Given the description of an element on the screen output the (x, y) to click on. 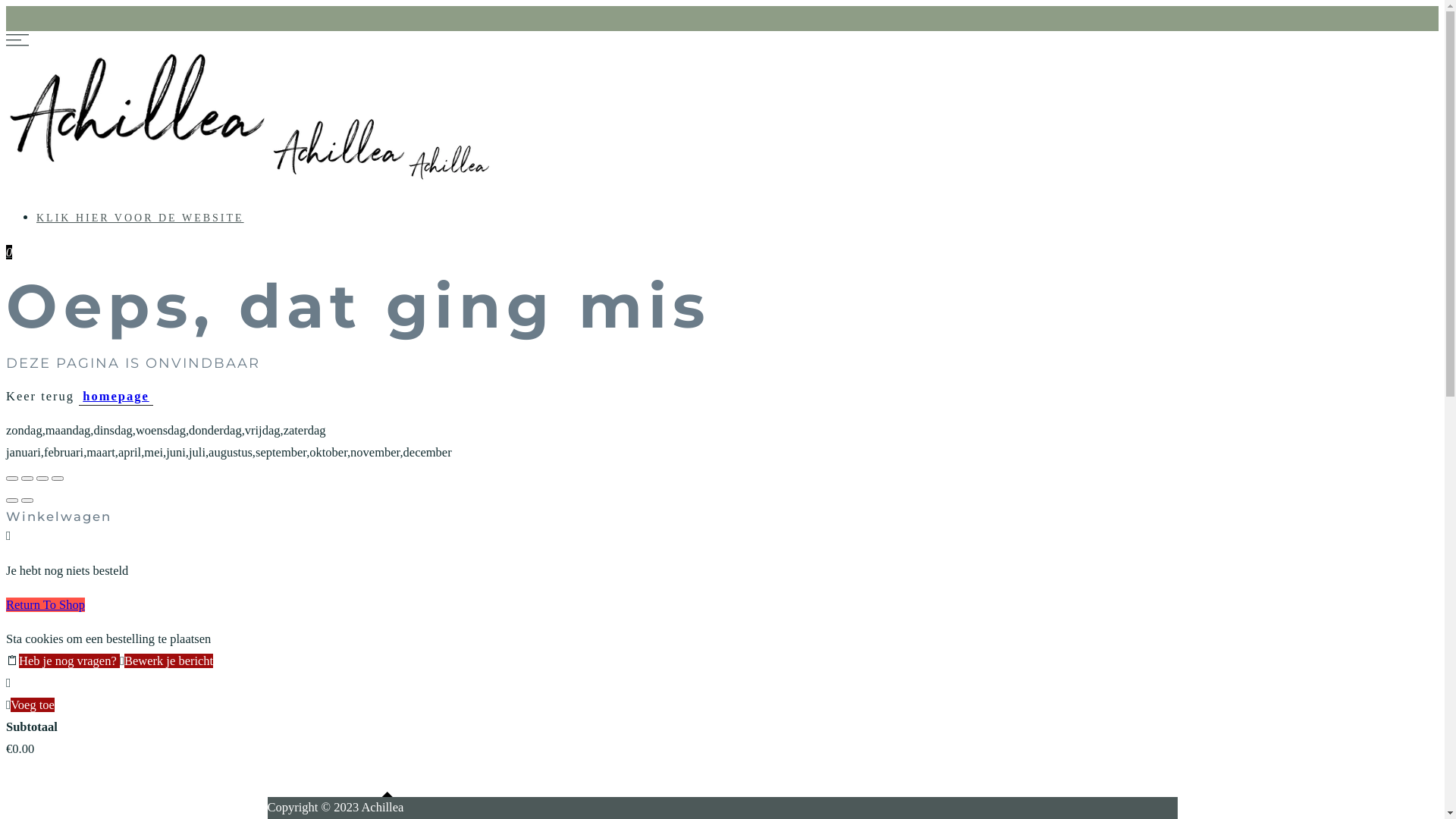
Return To Shop Element type: text (45, 604)
Toggle fullscreen Element type: hover (42, 478)
Share Element type: hover (27, 478)
Zoom in/out Element type: hover (57, 478)
0 Element type: text (9, 251)
homepage Element type: text (115, 396)
Next (arrow right) Element type: hover (27, 500)
Close (Esc) Element type: hover (12, 478)
Previous (arrow left) Element type: hover (12, 500)
KLIK HIER VOOR DE WEBSITE Element type: text (140, 217)
